Given the description of an element on the screen output the (x, y) to click on. 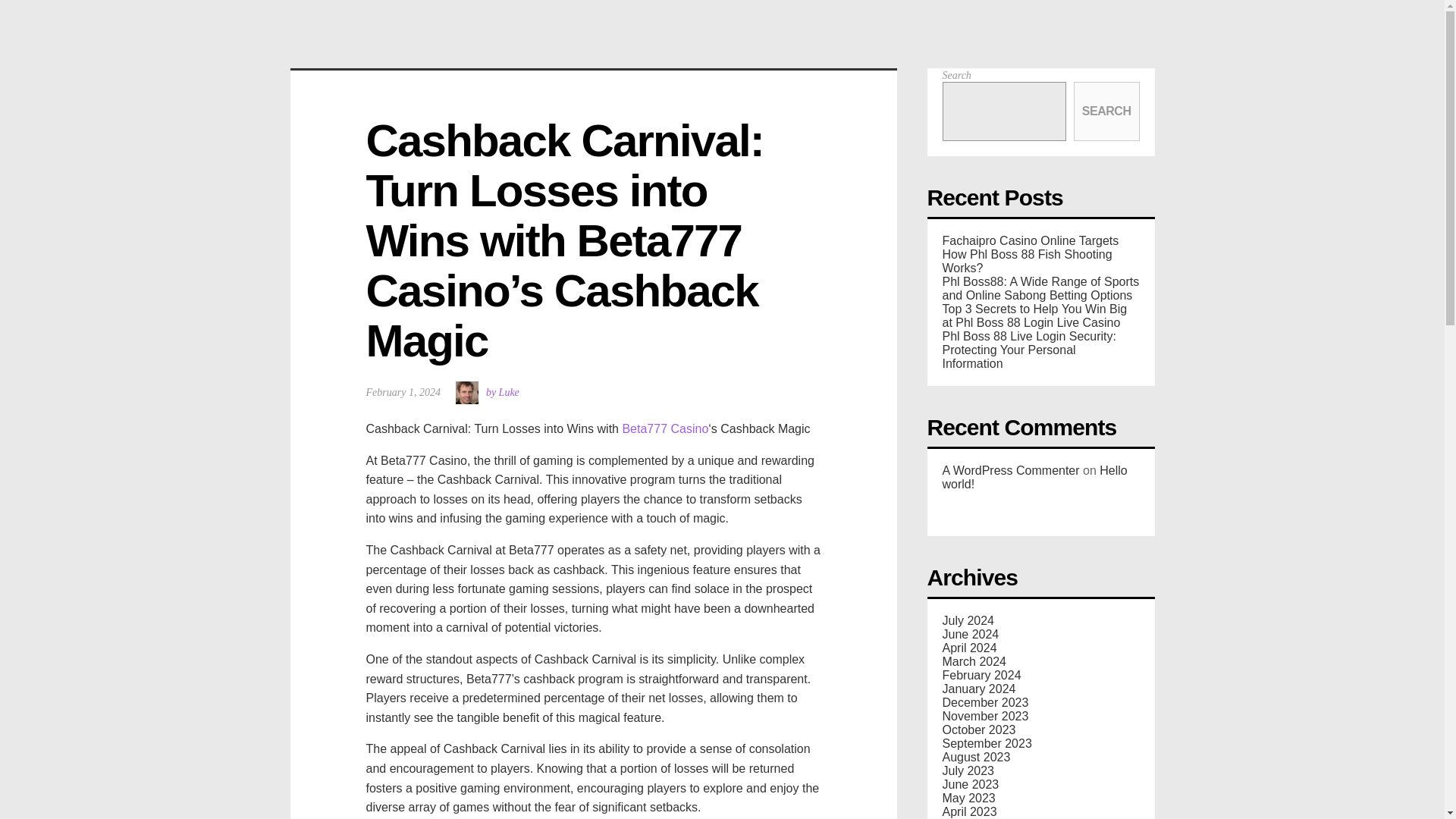
August 2023 (976, 755)
April 2024 (968, 645)
October 2023 (978, 727)
July 2023 (968, 768)
SEARCH (1121, 124)
July 2024 (968, 618)
November 2023 (984, 714)
February 2024 (981, 673)
